Given the description of an element on the screen output the (x, y) to click on. 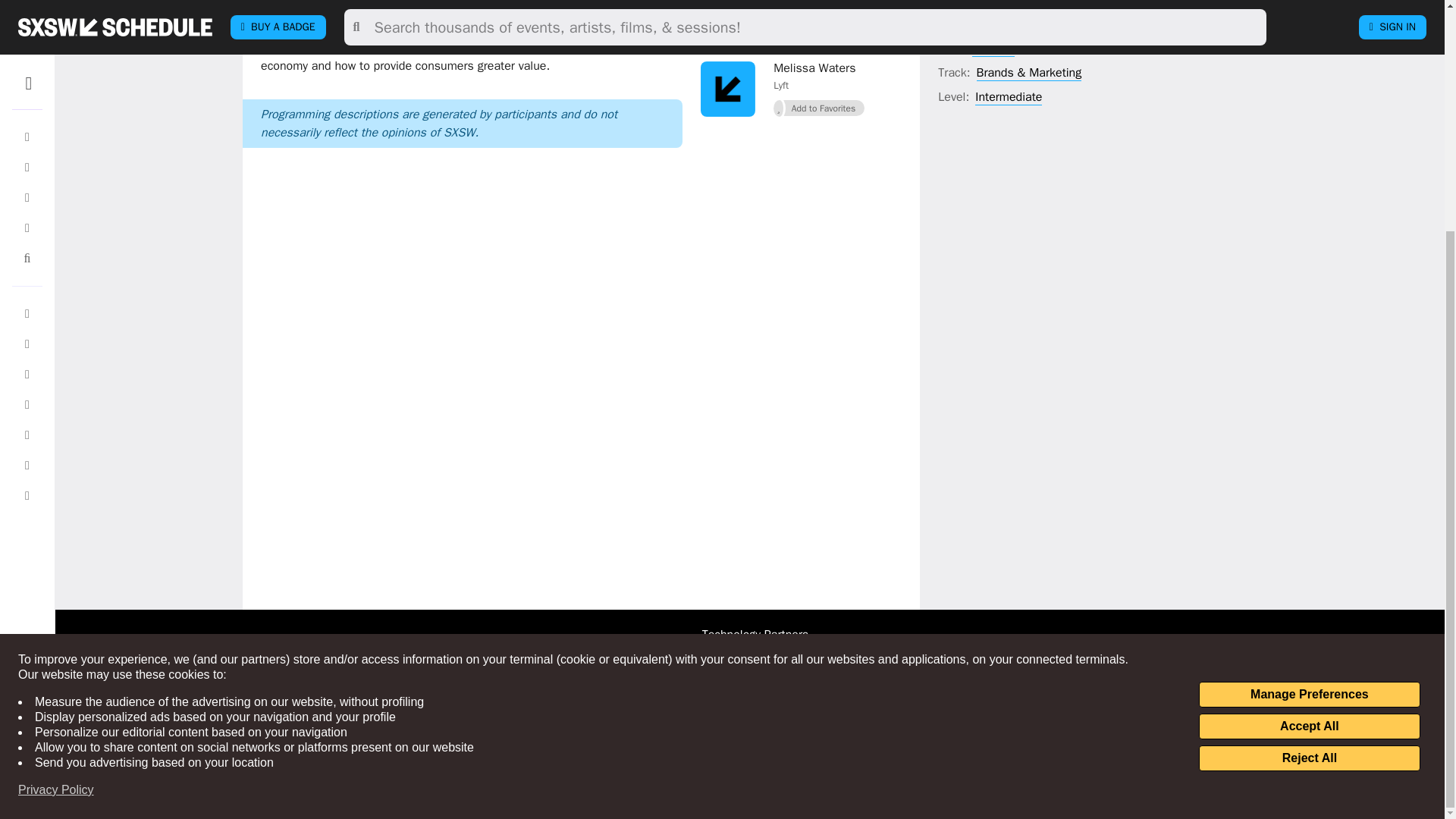
Sign In to add to your favorites. (818, 107)
Sign In to add to your favorites. (818, 32)
Privacy Policy (55, 477)
Reject All (1309, 445)
Accept All (1309, 413)
Manage Preferences (1309, 381)
